Given the description of an element on the screen output the (x, y) to click on. 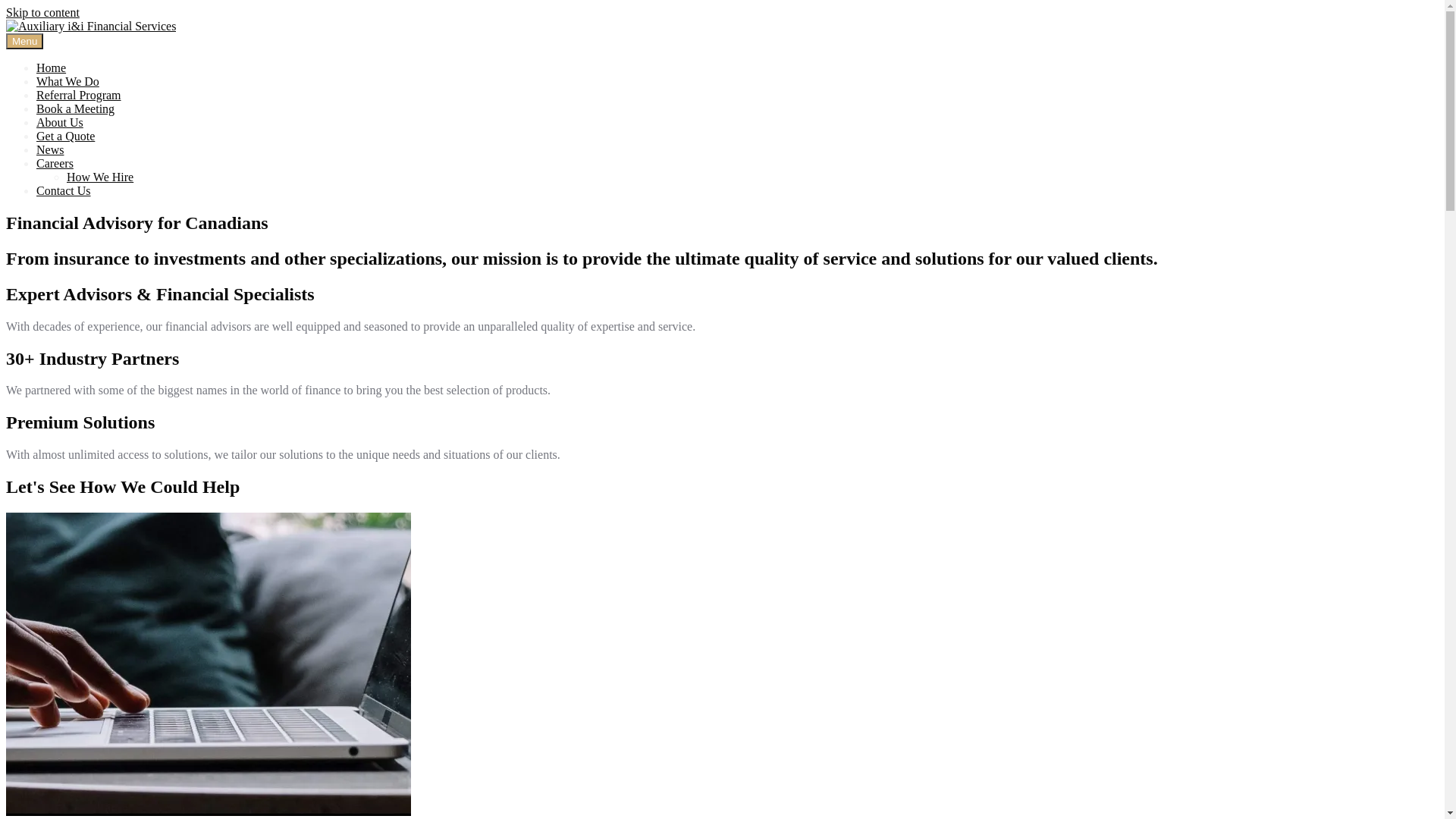
About Us Element type: text (59, 122)
Menu Element type: text (24, 41)
Careers Element type: text (54, 162)
Book a Meeting Element type: text (75, 108)
Auxiliary i&i Financial Services Element type: text (84, 51)
Get a Quote Element type: text (65, 135)
pexels-cottonbro-5054213 (1) Element type: hover (208, 663)
Referral Program Element type: text (78, 94)
What We Do Element type: text (67, 81)
How We Hire Element type: text (99, 176)
Contact Us Element type: text (63, 190)
News Element type: text (49, 149)
Home Element type: text (50, 67)
Skip to content Element type: text (42, 12)
